Given the description of an element on the screen output the (x, y) to click on. 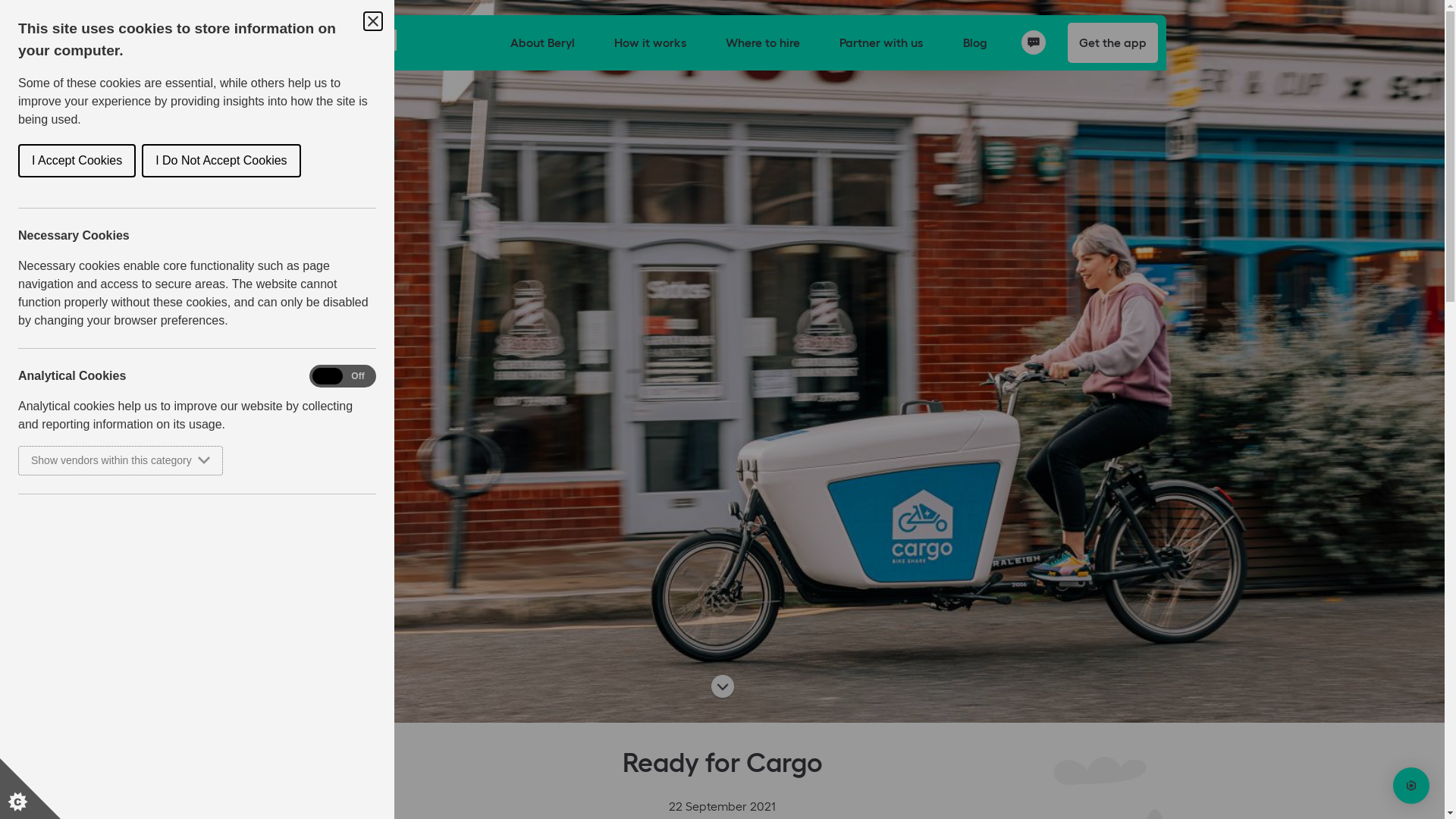
Get the app Element type: text (1112, 42)
Blog Element type: text (974, 42)
Chat Element type: text (1033, 42)
I Do Not Accept Cookies Element type: text (220, 160)
Where to hire Element type: text (762, 42)
Show vendors within this category Element type: text (120, 460)
Skip to main content Element type: text (0, 0)
I Accept Cookies Element type: text (76, 160)
Beryl Element type: text (387, 42)
